Given the description of an element on the screen output the (x, y) to click on. 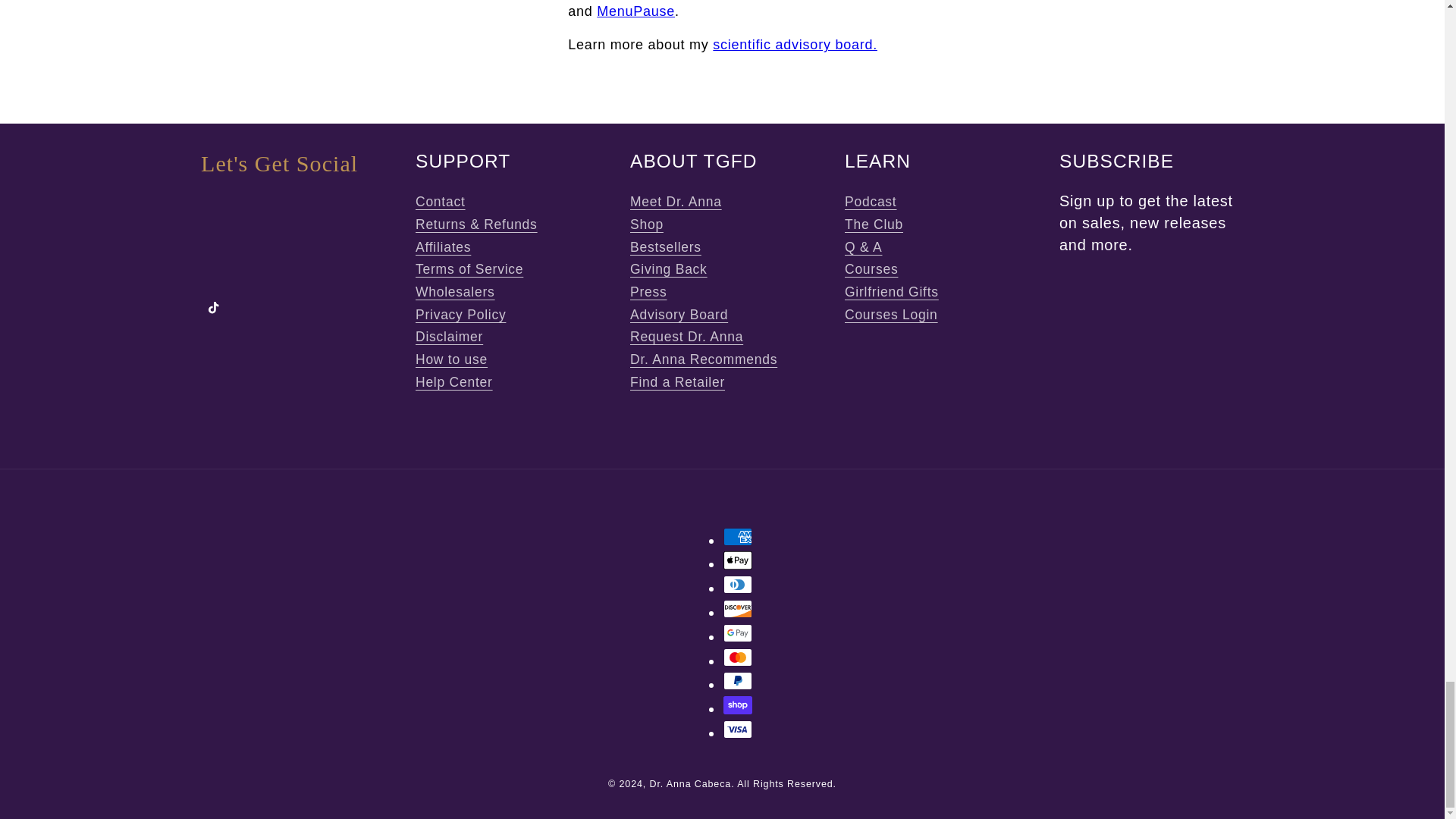
PayPal (737, 680)
Visa (737, 729)
Apple Pay (737, 560)
Mastercard (737, 657)
Discover (737, 608)
Google Pay (737, 633)
American Express (737, 536)
Diners Club (737, 584)
Shop Pay (737, 705)
